Given the description of an element on the screen output the (x, y) to click on. 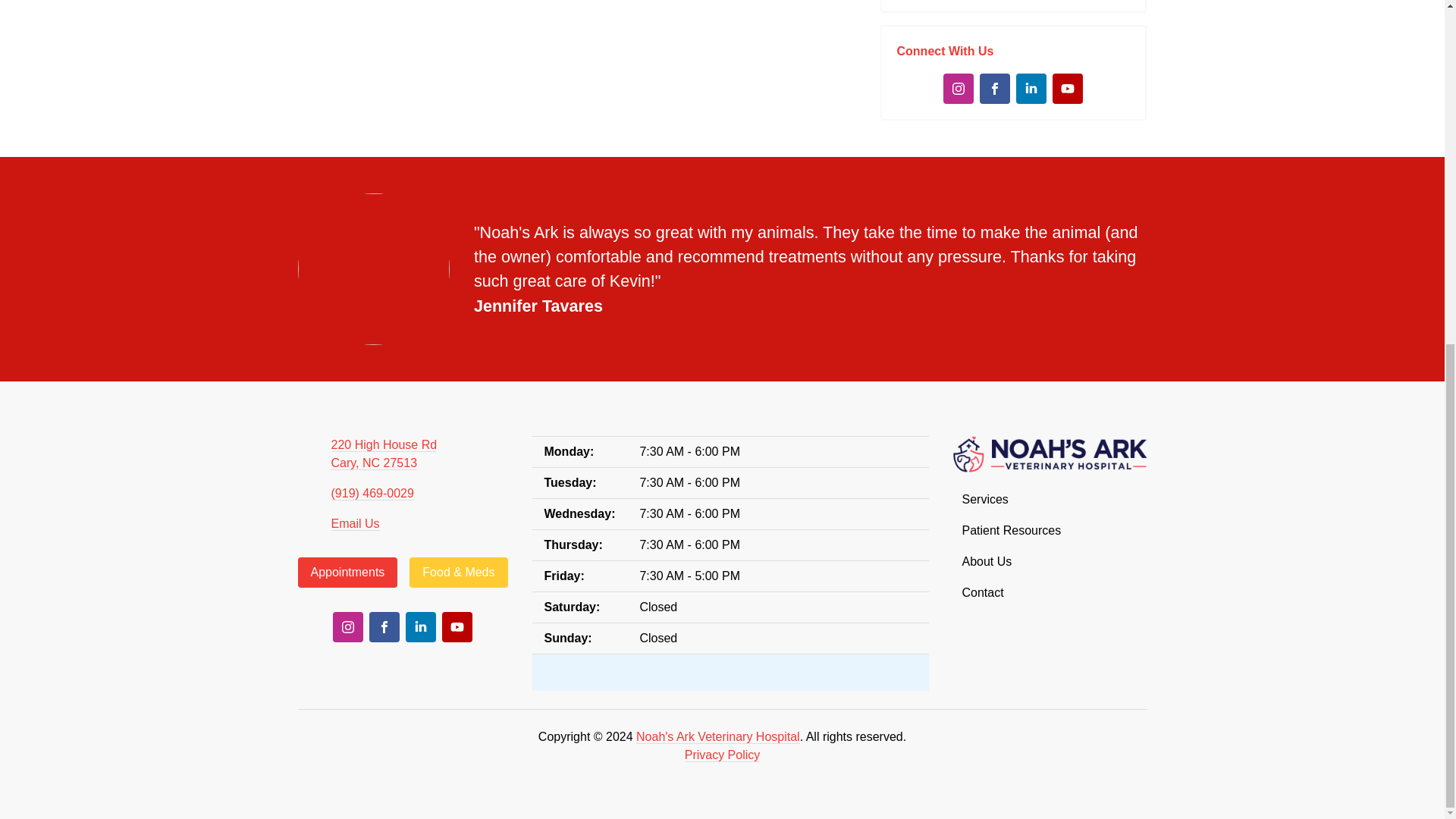
Facebook (994, 88)
Youtube (1067, 88)
Email Us (354, 523)
Facebook (383, 626)
Youtube (456, 626)
LinkedIn (1031, 88)
Instagram (958, 88)
Appointments (347, 572)
Instagram (347, 626)
Call Us (371, 493)
